Given the description of an element on the screen output the (x, y) to click on. 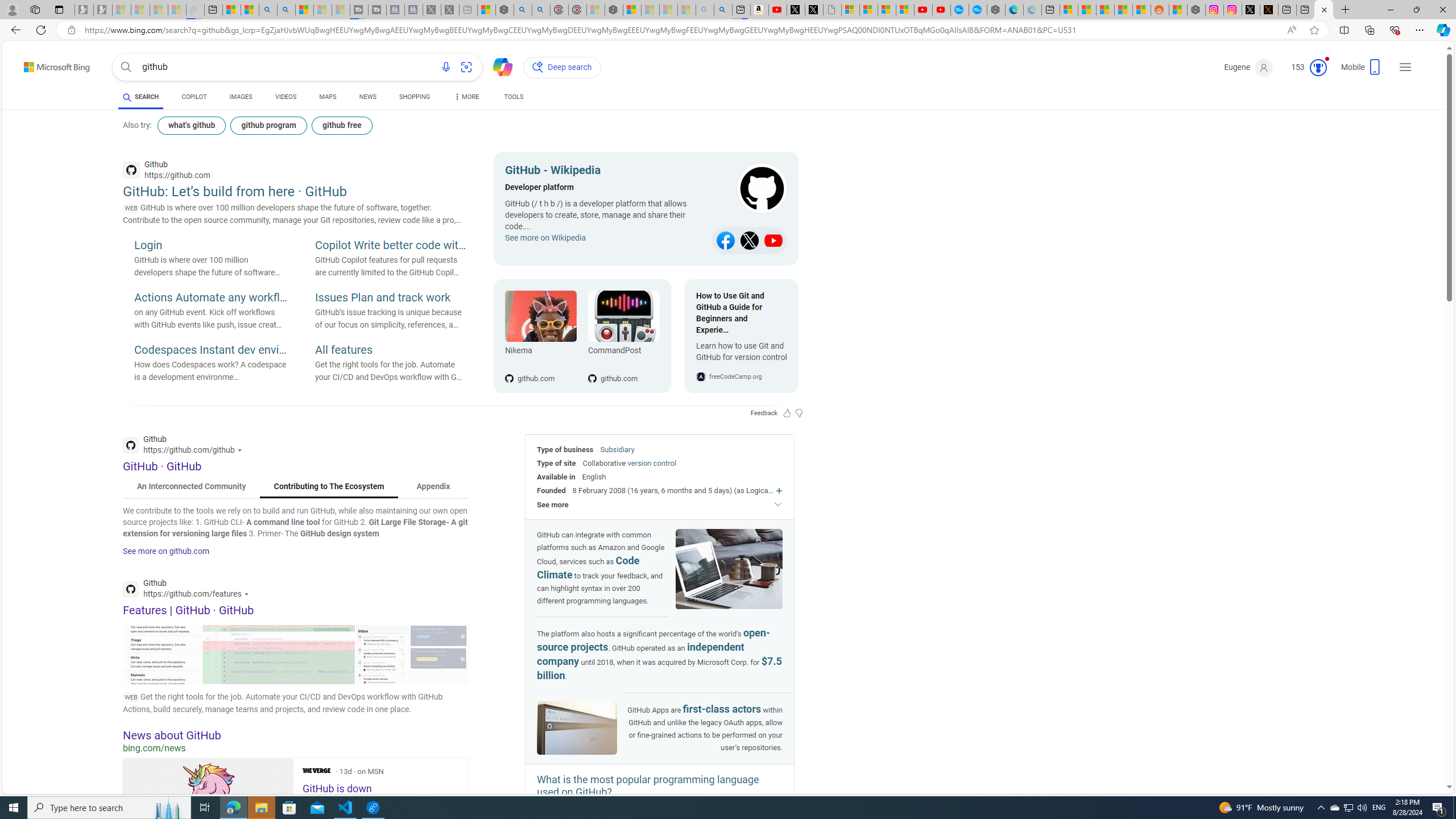
Chat (497, 65)
what's github (191, 125)
Gloom - YouTube (923, 9)
NEWS (367, 98)
SEARCH (140, 96)
Day 1: Arriving in Yemen (surreal to be here) - YouTube (778, 9)
TOOLS (512, 96)
Class: b_wdblk (750, 188)
